Given the description of an element on the screen output the (x, y) to click on. 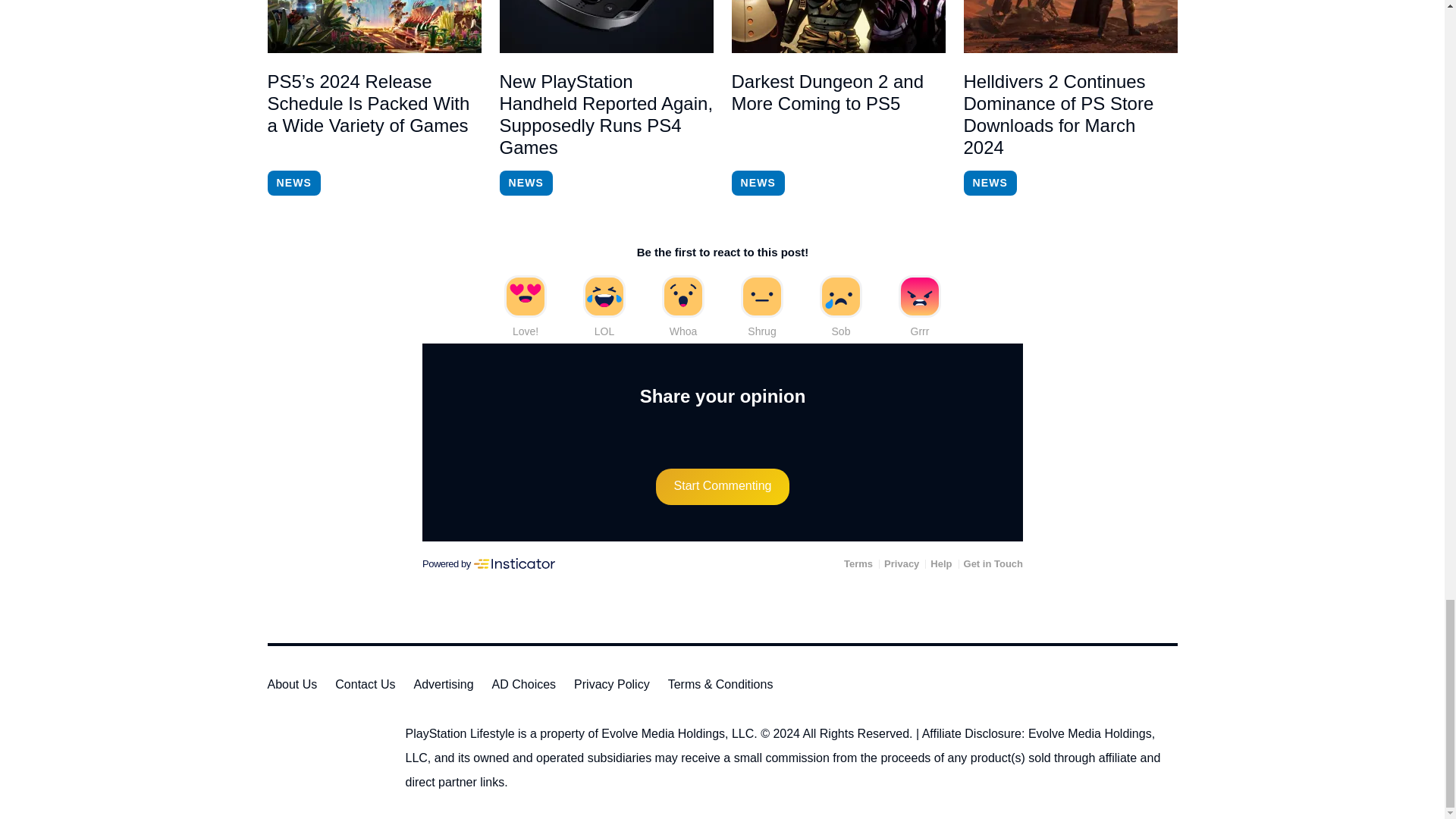
Darkest Dungeon 2 and More Coming to PS5 (837, 26)
